Given the description of an element on the screen output the (x, y) to click on. 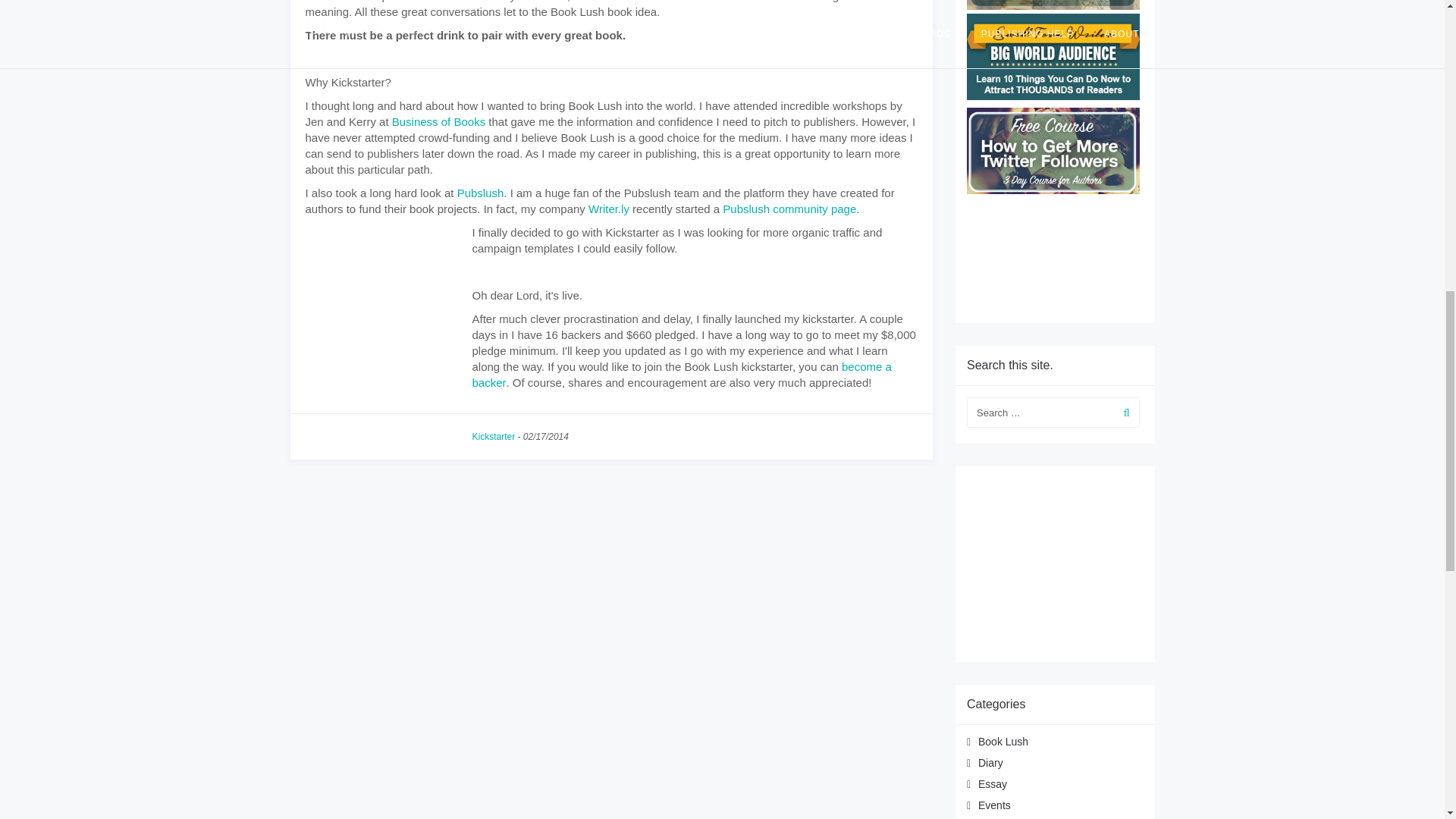
Pubslush (480, 192)
become a backer (681, 374)
Writer.ly (608, 208)
Kickstarter (493, 436)
Business of Books (437, 121)
Pubslush community page (789, 208)
